Given the description of an element on the screen output the (x, y) to click on. 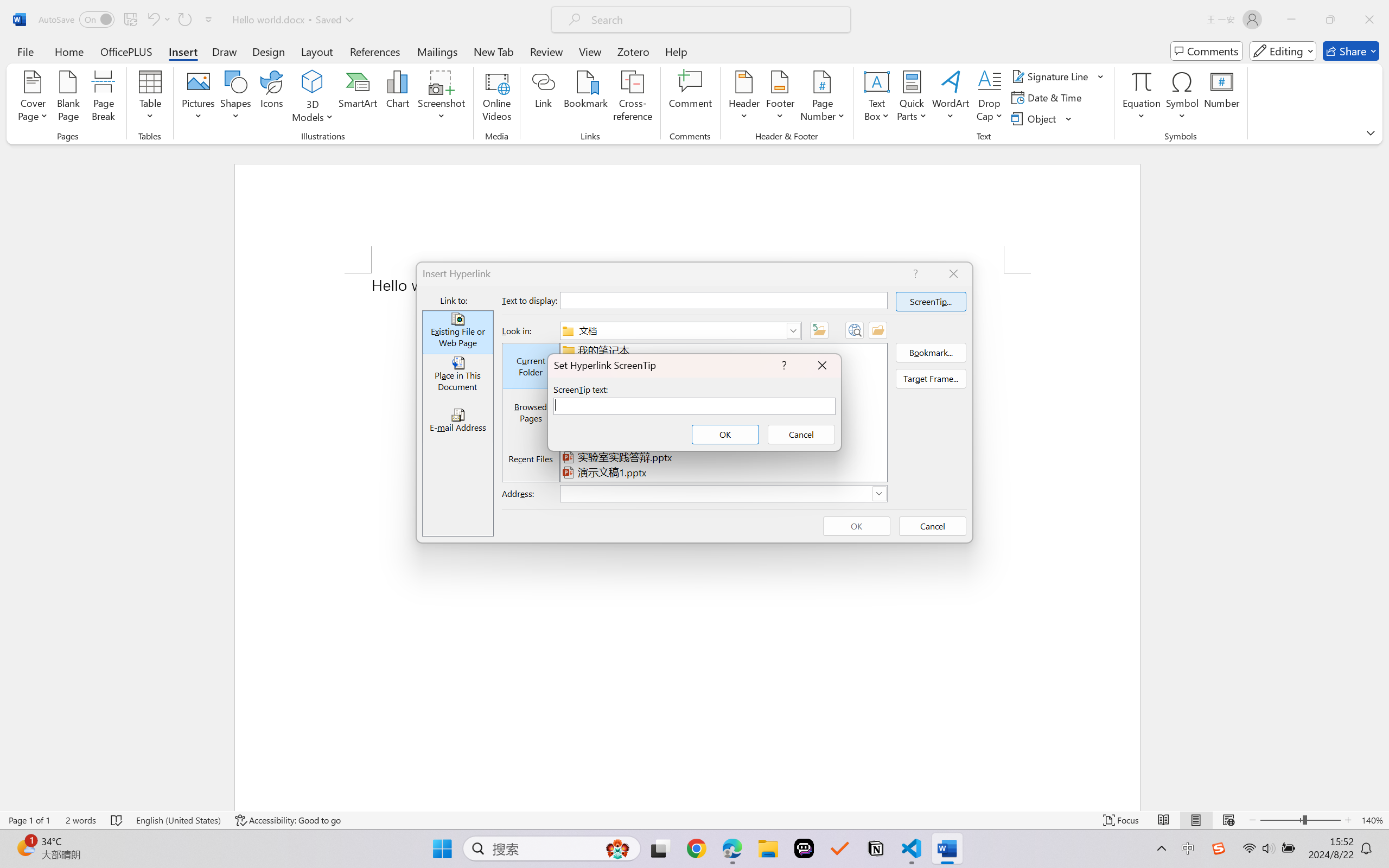
Table (149, 97)
Equation (1141, 81)
Draw (224, 51)
Text Box (876, 97)
File Tab (24, 51)
ScreenTip text: (694, 405)
Review (546, 51)
3D Models (312, 97)
Close (1369, 19)
View (589, 51)
Google Chrome (696, 848)
Date & Time... (1048, 97)
Target Frame... (930, 378)
Quick Parts (912, 97)
Address: (723, 493)
